Given the description of an element on the screen output the (x, y) to click on. 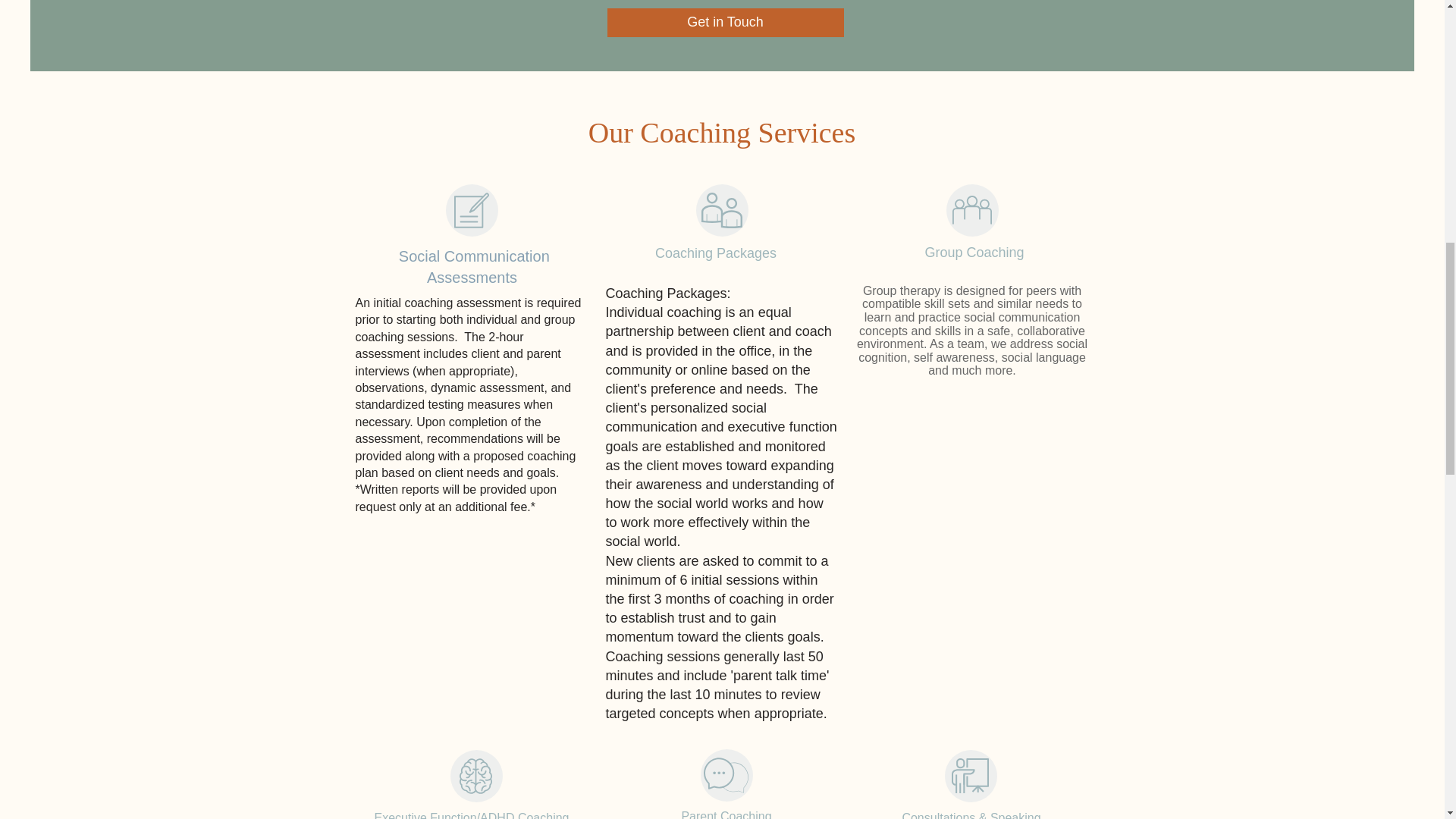
Get in Touch (725, 22)
